Given the description of an element on the screen output the (x, y) to click on. 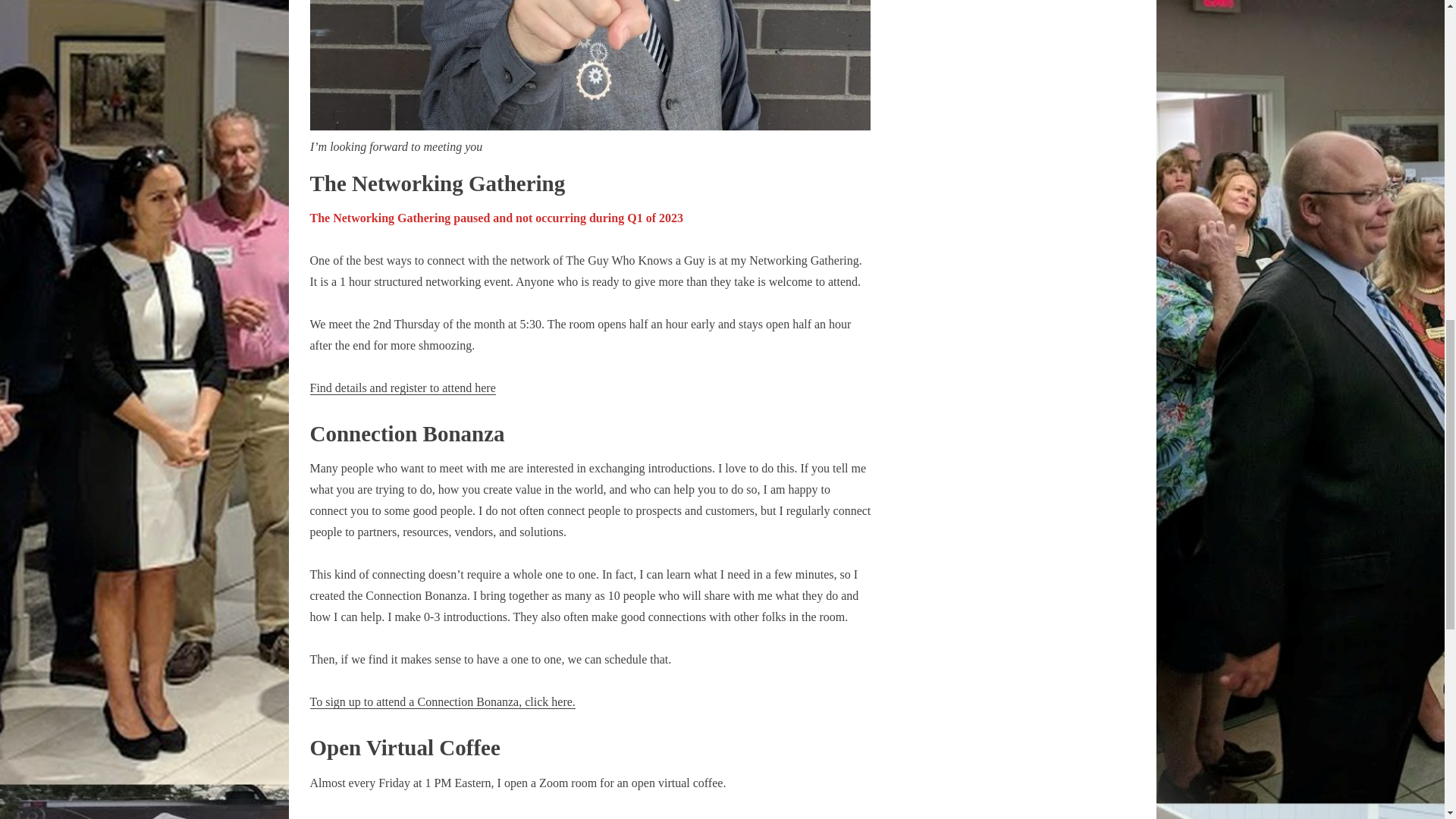
To sign up to attend a Connection Bonanza, click here. (441, 702)
Find details and register to attend here (401, 387)
